Given the description of an element on the screen output the (x, y) to click on. 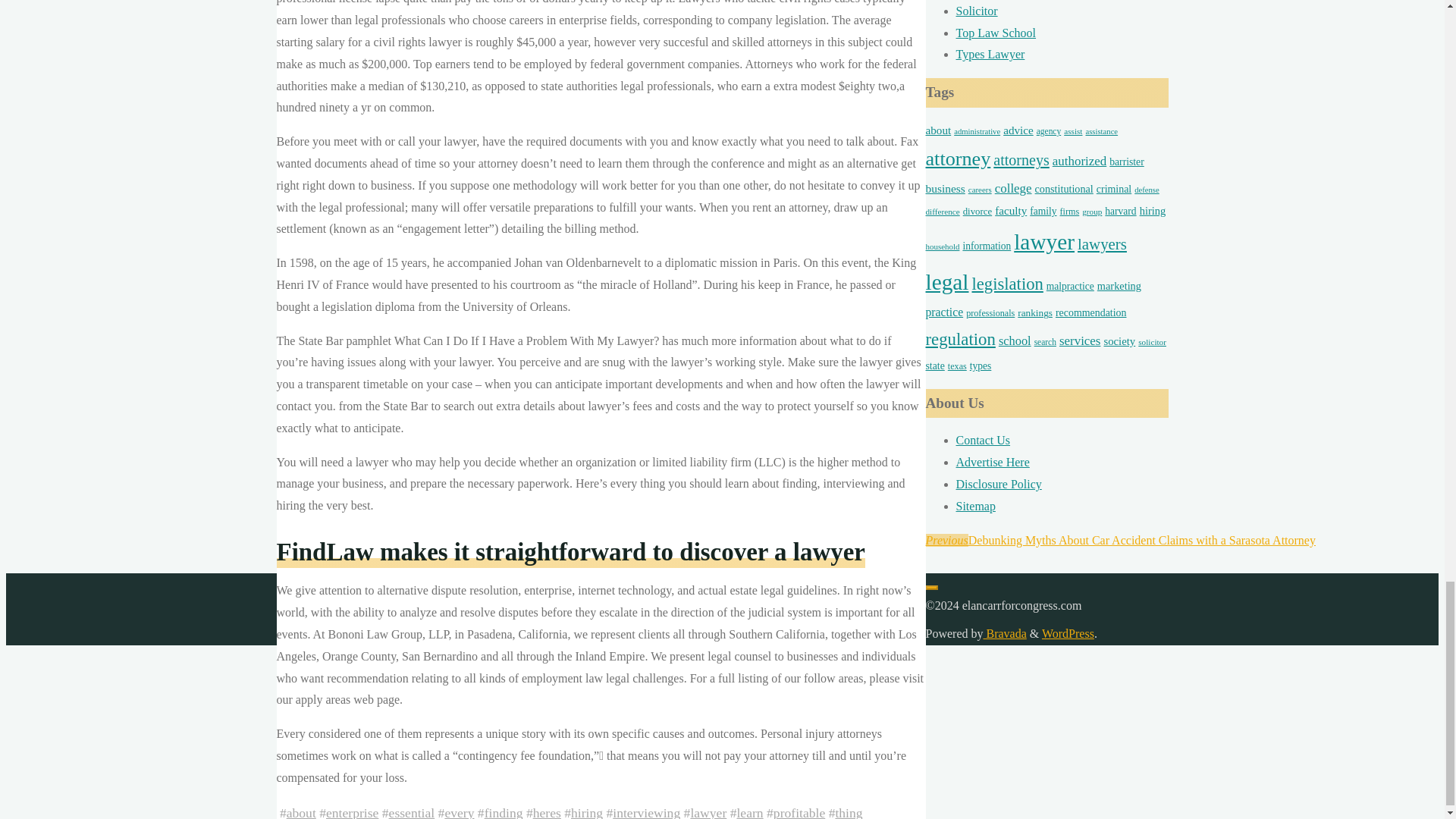
Semantic Personal Publishing Platform (1068, 633)
Bravada WordPress Theme by Cryout Creations (1004, 633)
